Given the description of an element on the screen output the (x, y) to click on. 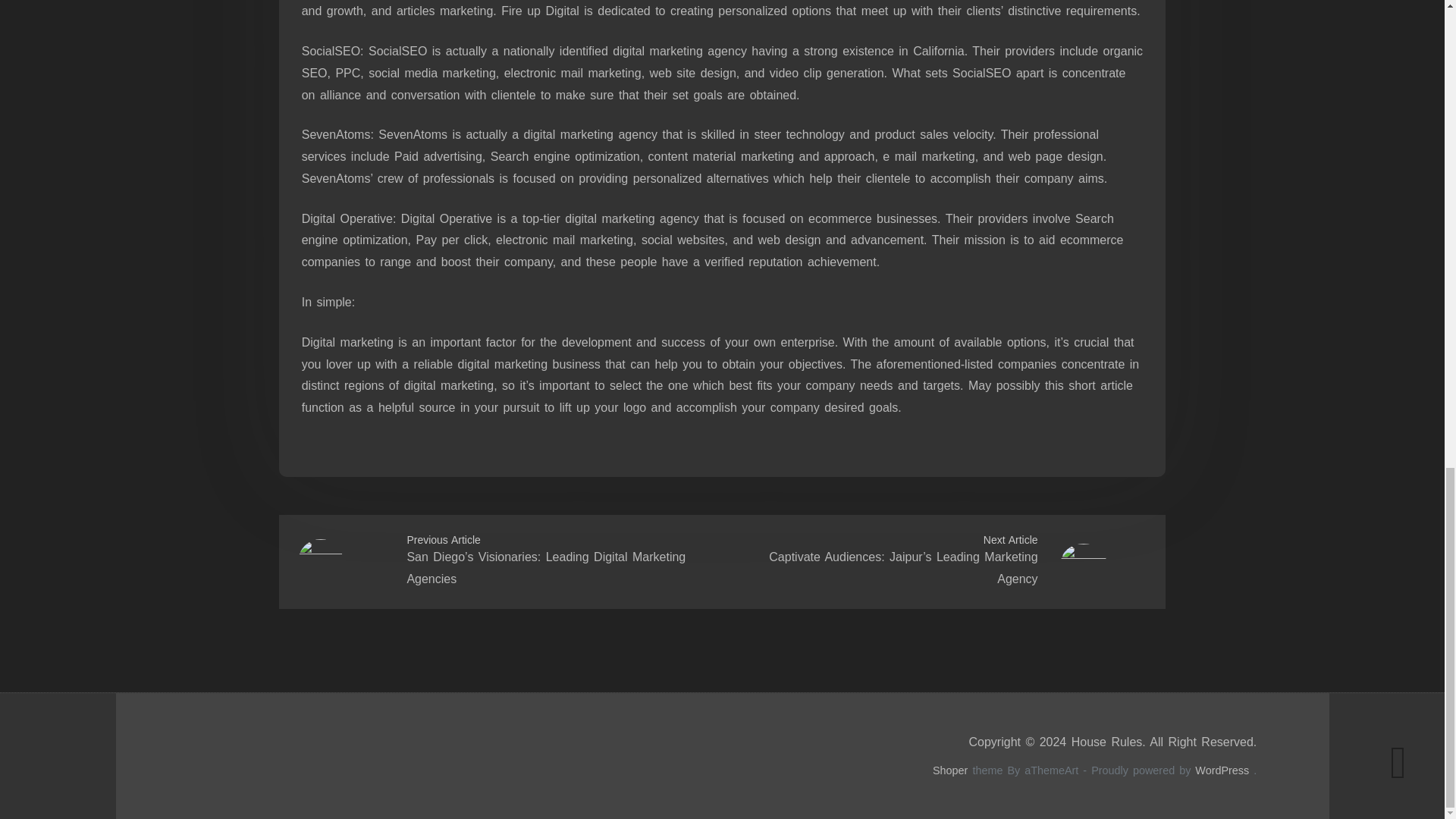
Shoper (950, 770)
WordPress (1222, 770)
